Given the description of an element on the screen output the (x, y) to click on. 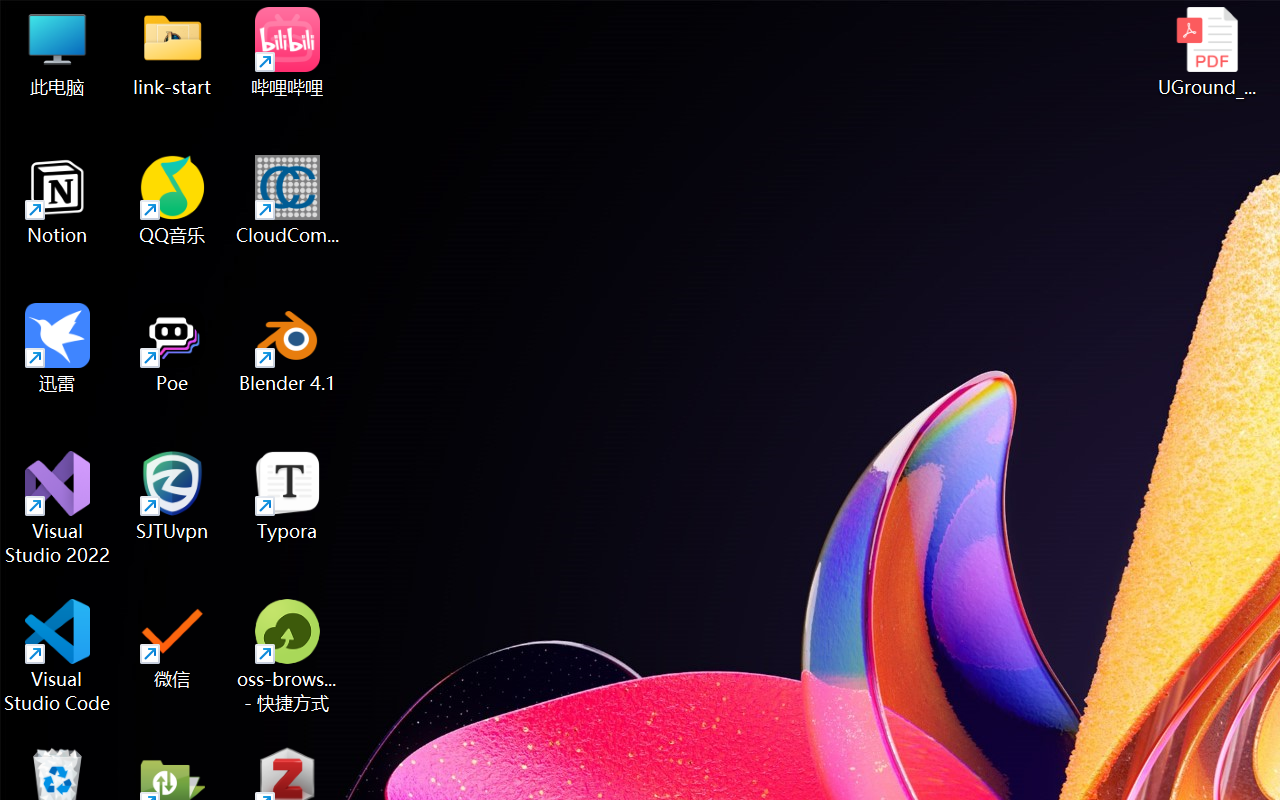
Blender 4.1 (287, 348)
Typora (287, 496)
CloudCompare (287, 200)
Visual Studio Code (57, 656)
SJTUvpn (172, 496)
UGround_paper.pdf (1206, 52)
Visual Studio 2022 (57, 508)
